Given the description of an element on the screen output the (x, y) to click on. 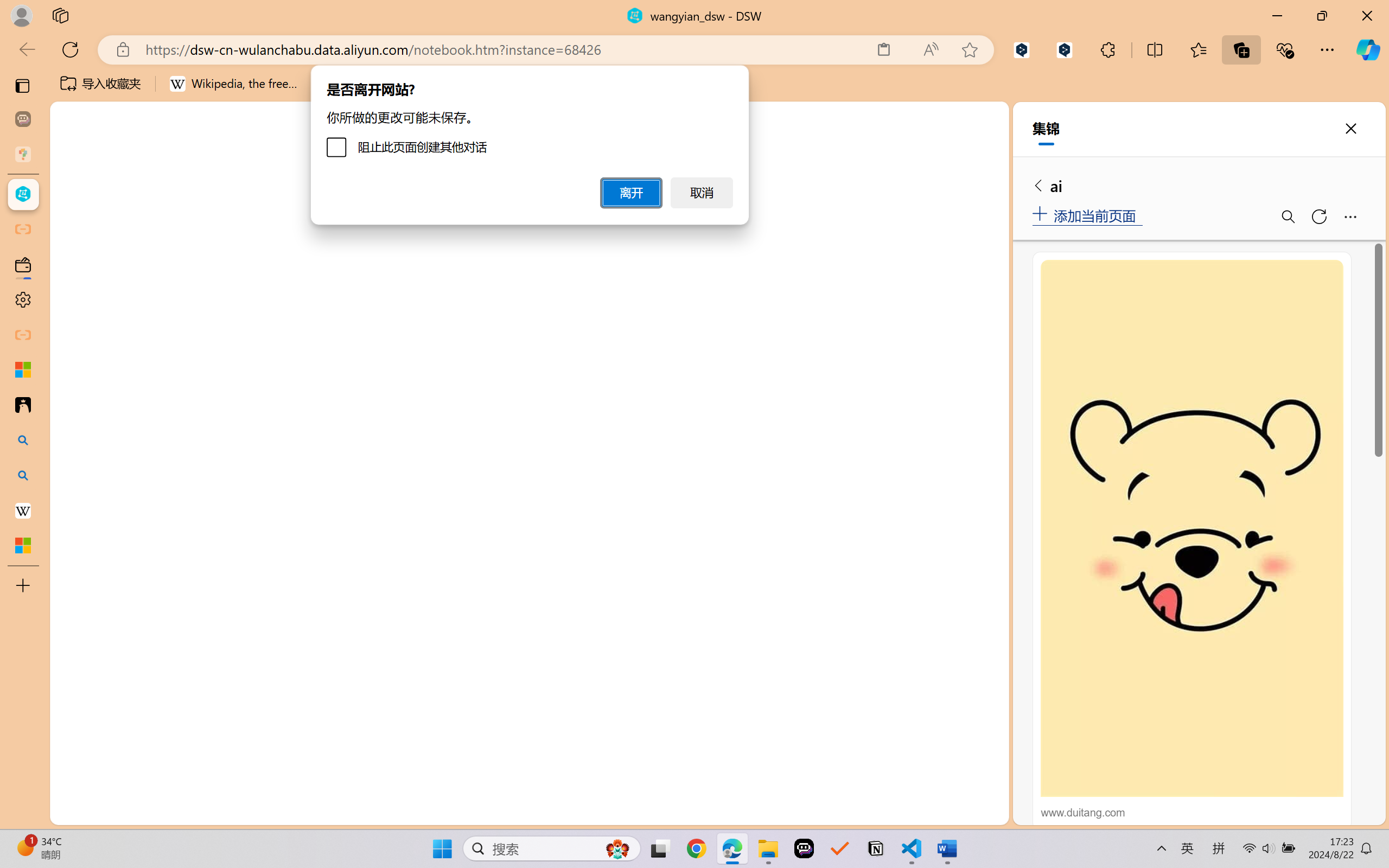
Manage (73, 755)
No Problems (115, 812)
Class: xterm-link-layer (574, 697)
